Given the description of an element on the screen output the (x, y) to click on. 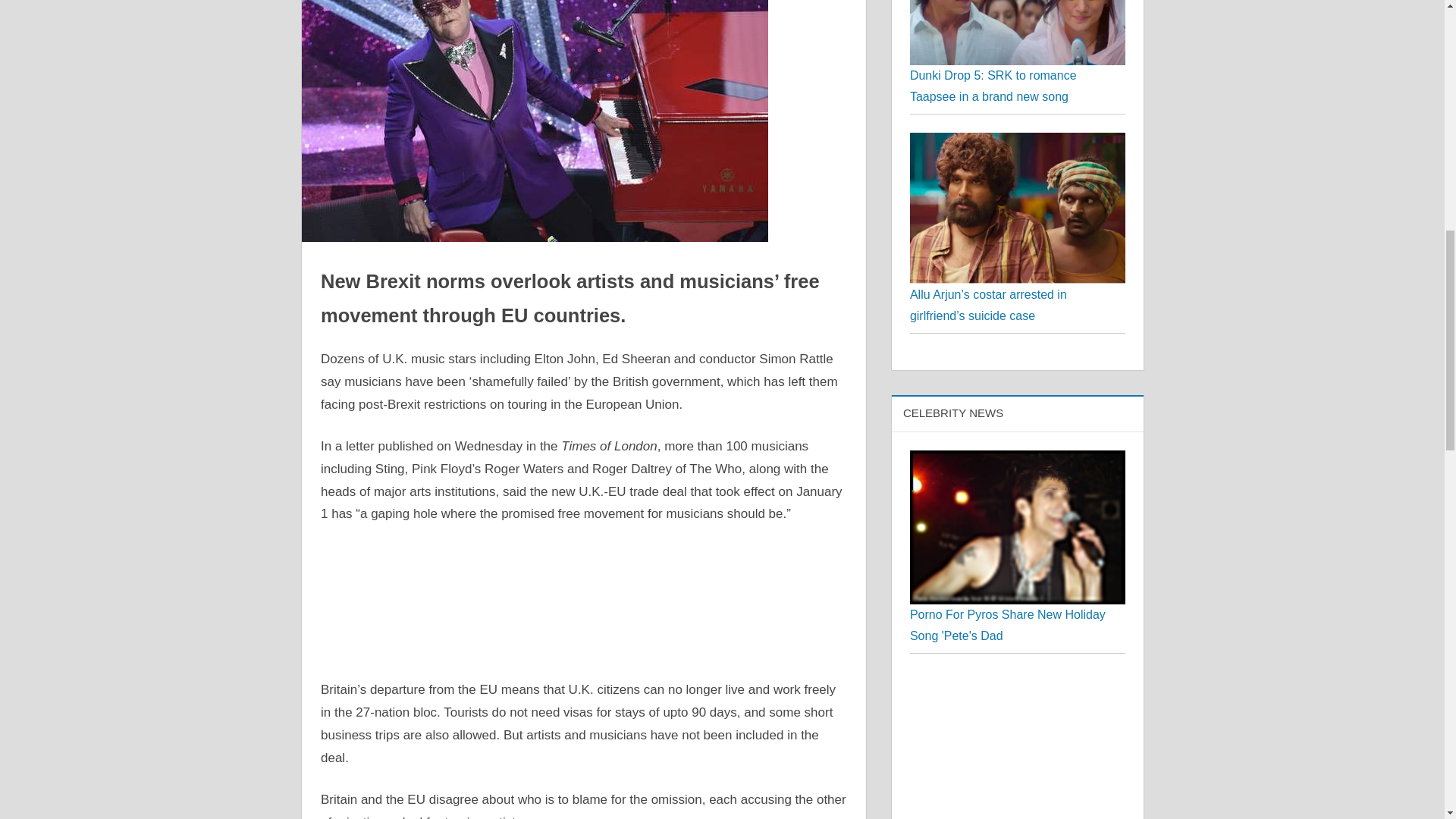
Dunki Drop 5: SRK to romance Taapsee in a brand new song (1017, 32)
10 Healthy Things Diabetics Should Do in 2024 (1017, 681)
Porno For Pyros Share New Holiday Song 'Pete's Dad (1007, 625)
Porno For Pyros Share New Holiday Song 'Pete's Dad (1017, 527)
Dunki Drop 5: SRK to romance Taapsee in a brand new song (993, 85)
10 Healthy Things Diabetics Should Do in 2024 (1017, 745)
Porno For Pyros Share New Holiday Song 'Pete's Dad (1017, 460)
